Given the description of an element on the screen output the (x, y) to click on. 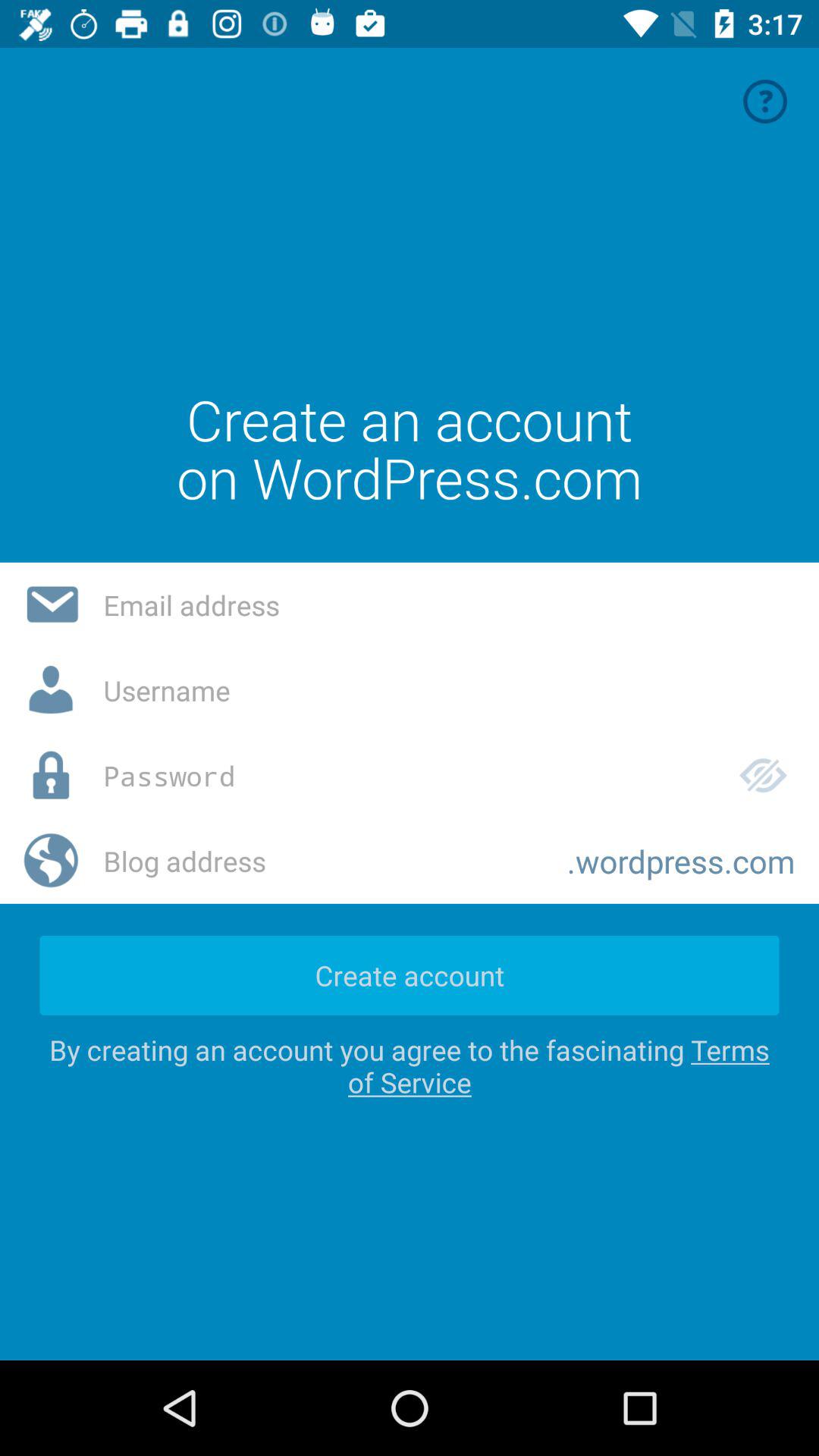
tap by creating an item (409, 1066)
